Given the description of an element on the screen output the (x, y) to click on. 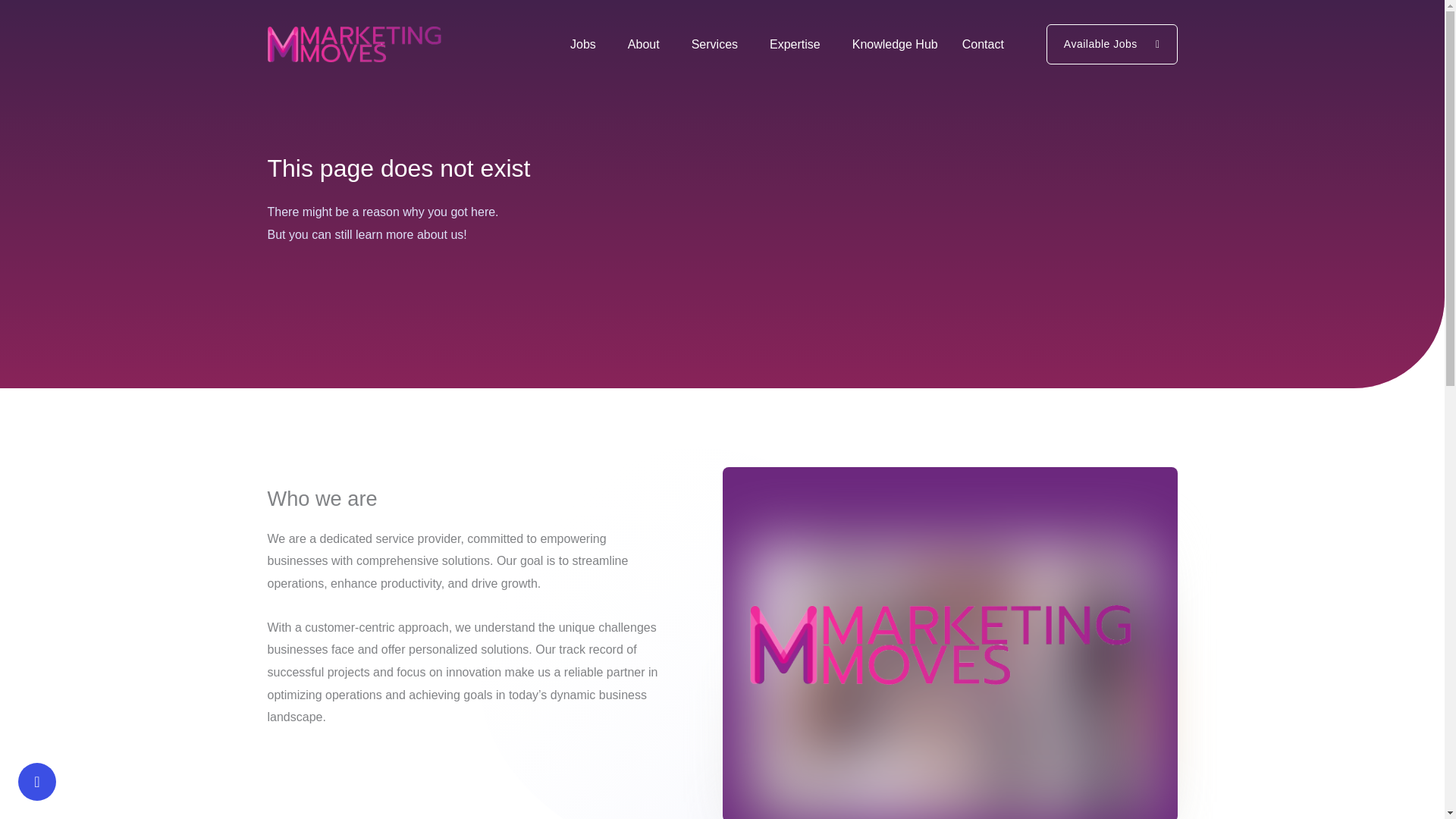
Contact (983, 44)
About (646, 44)
Knowledge Hub (894, 44)
Available Jobs (1111, 44)
Services (718, 44)
Jobs (587, 44)
Expertise (798, 44)
